Given the description of an element on the screen output the (x, y) to click on. 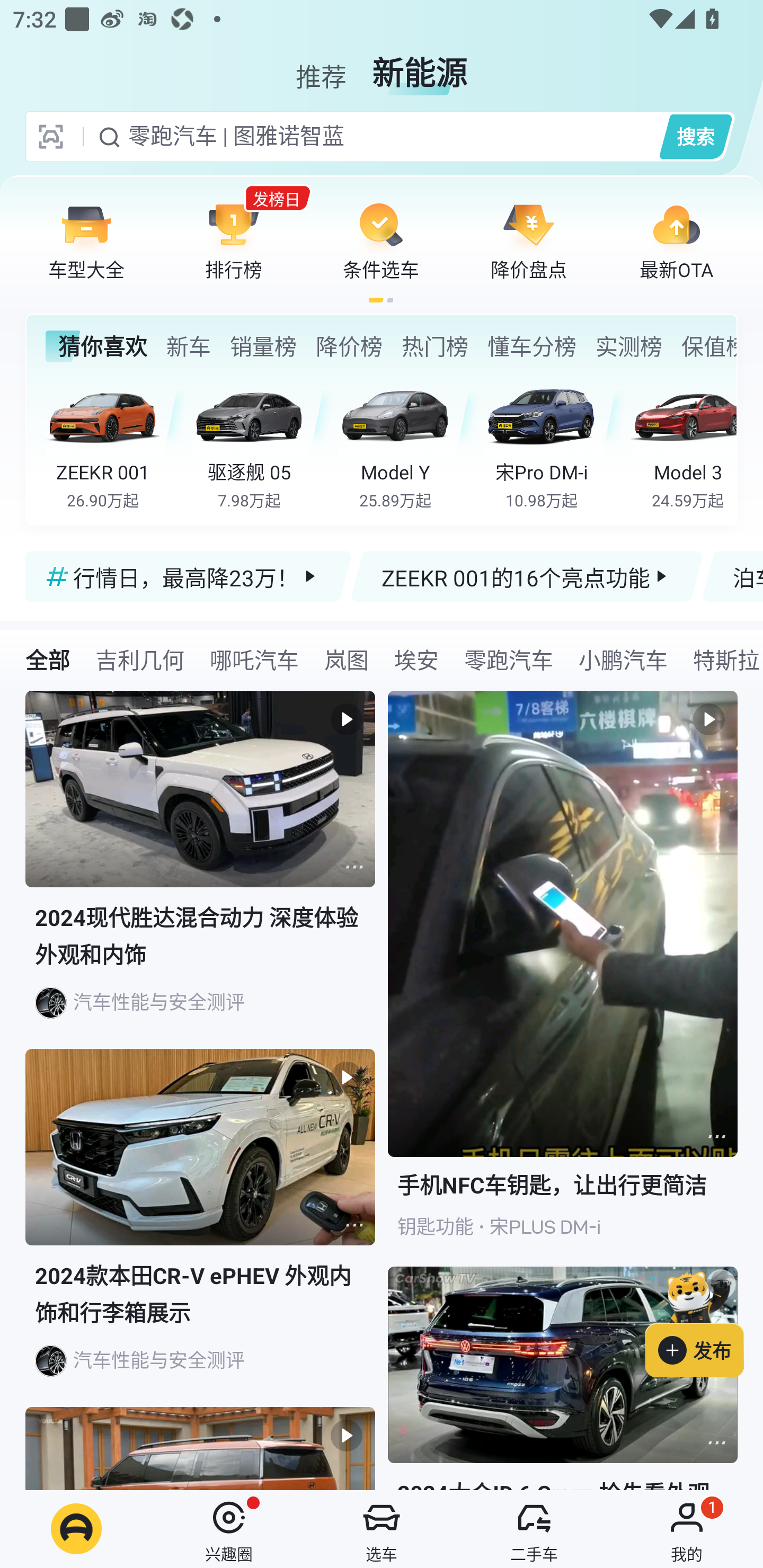
推荐 (321, 65)
新能源 (419, 65)
搜索 (695, 136)
车型大全 (86, 240)
发榜日 排行榜 (233, 240)
条件选车 (380, 240)
降价盘点 (528, 240)
最新OTA (676, 240)
猜你喜欢 (96, 346)
新车 (188, 346)
销量榜 (262, 346)
降价榜 (348, 346)
热门榜 (434, 346)
懂车分榜 (531, 346)
实测榜 (628, 346)
ZEEKR 001 26.90万起 (115, 442)
驱逐舰 05 7.98万起 (261, 442)
Model Y 25.89万起 (407, 442)
宋Pro DM-i 10.98万起 (554, 442)
Model 3 24.59万起 (683, 442)
行情日，最高降23万！ (188, 576)
ZEEKR 001的16个亮点功能 (526, 576)
全部 (47, 659)
吉利几何 (139, 659)
哪吒汽车 (253, 659)
岚图 (346, 659)
埃安 (416, 659)
零跑汽车 (508, 659)
小鹏汽车 (623, 659)
特斯拉 (721, 659)
  2024现代胜达混合动力 深度体验外观和内饰 汽车性能与安全测评 (200, 869)
  手机NFC车钥匙，让出行更简洁 钥匙功能 宋PLUS DM-i (562, 978)
 (354, 867)
  2024款本田CR-V ePHEV 外观内饰和行李箱展示 汽车性能与安全测评 (200, 1227)
 (716, 1136)
宋PLUS DM-i (545, 1226)
 (354, 1224)
发布 (704, 1320)
  2024大众ID.6 Crozz 抢先看外观和内饰 (562, 1377)
 (716, 1442)
 兴趣圈 (228, 1528)
 选车 (381, 1528)
 二手车 (533, 1528)
 我的 (686, 1528)
